Given the description of an element on the screen output the (x, y) to click on. 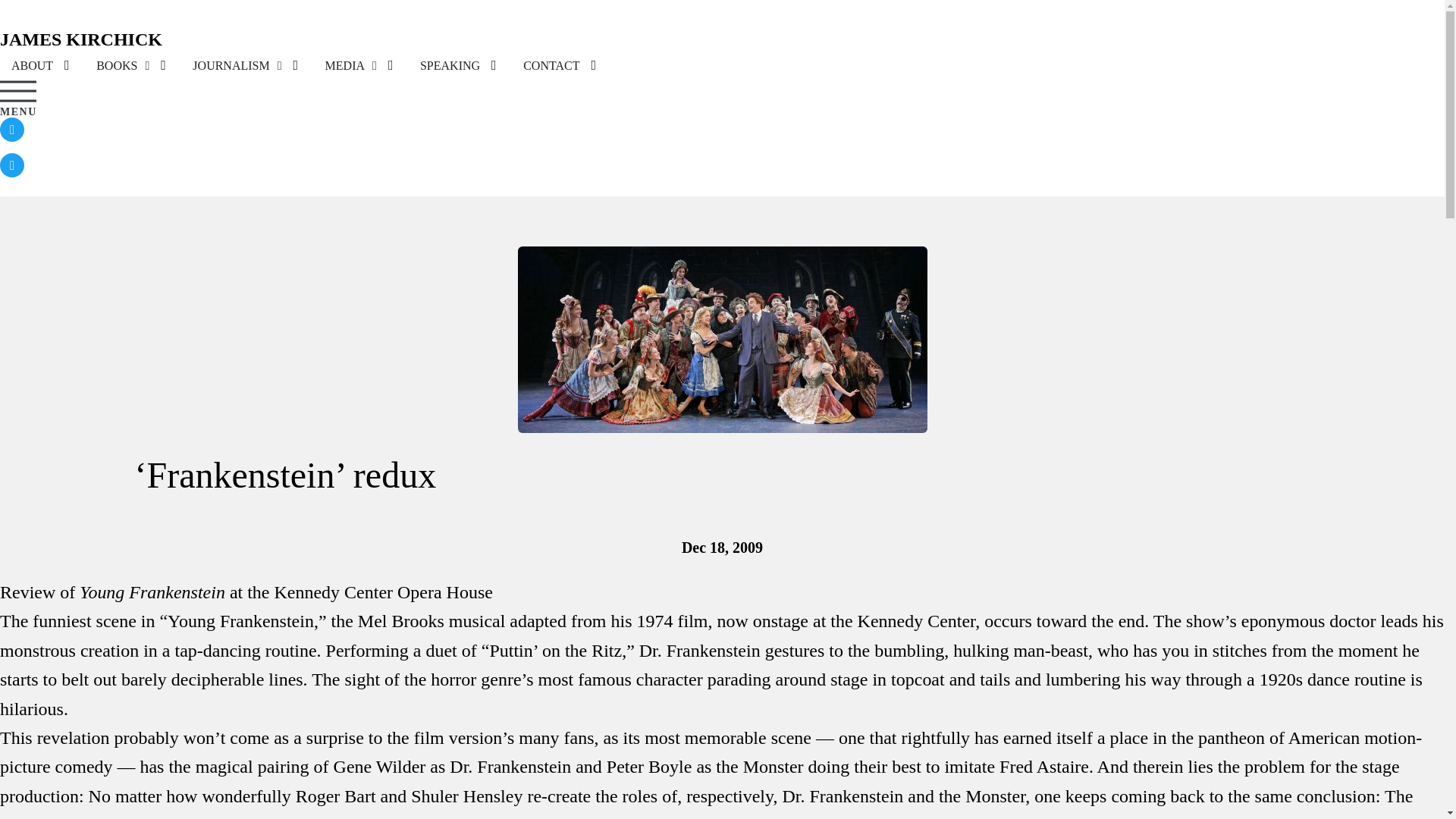
CONTACT (551, 65)
BOOKS (122, 65)
SPEAKING (450, 65)
Twitter (12, 165)
Twitter (12, 129)
MEDIA (351, 65)
JOURNALISM (236, 65)
JAMES KIRCHICK (80, 40)
ABOUT (32, 65)
James Kirchick (80, 39)
